Given the description of an element on the screen output the (x, y) to click on. 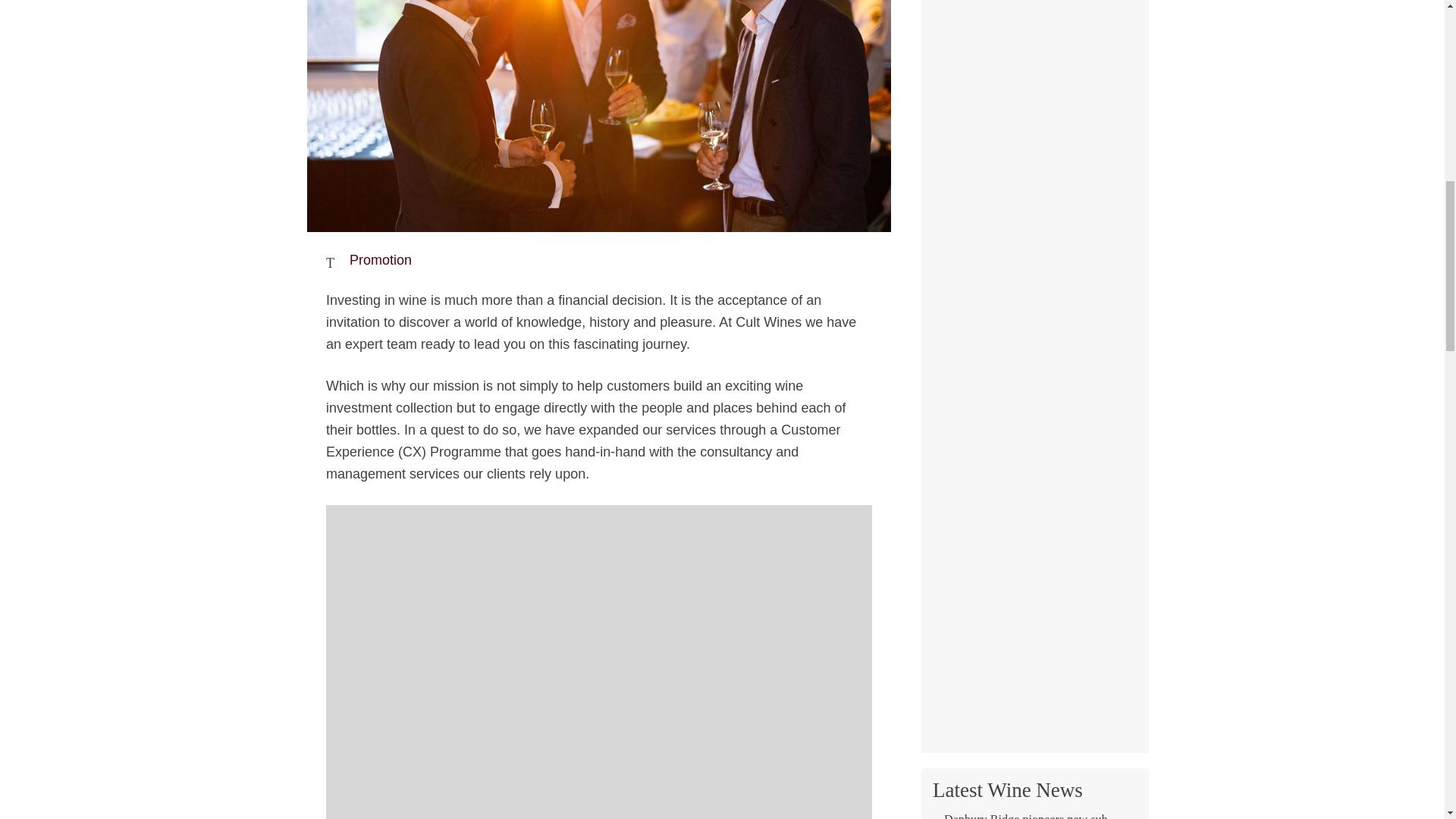
Danbury Ridge pioneers new sub-region of Essex (1035, 816)
